Given the description of an element on the screen output the (x, y) to click on. 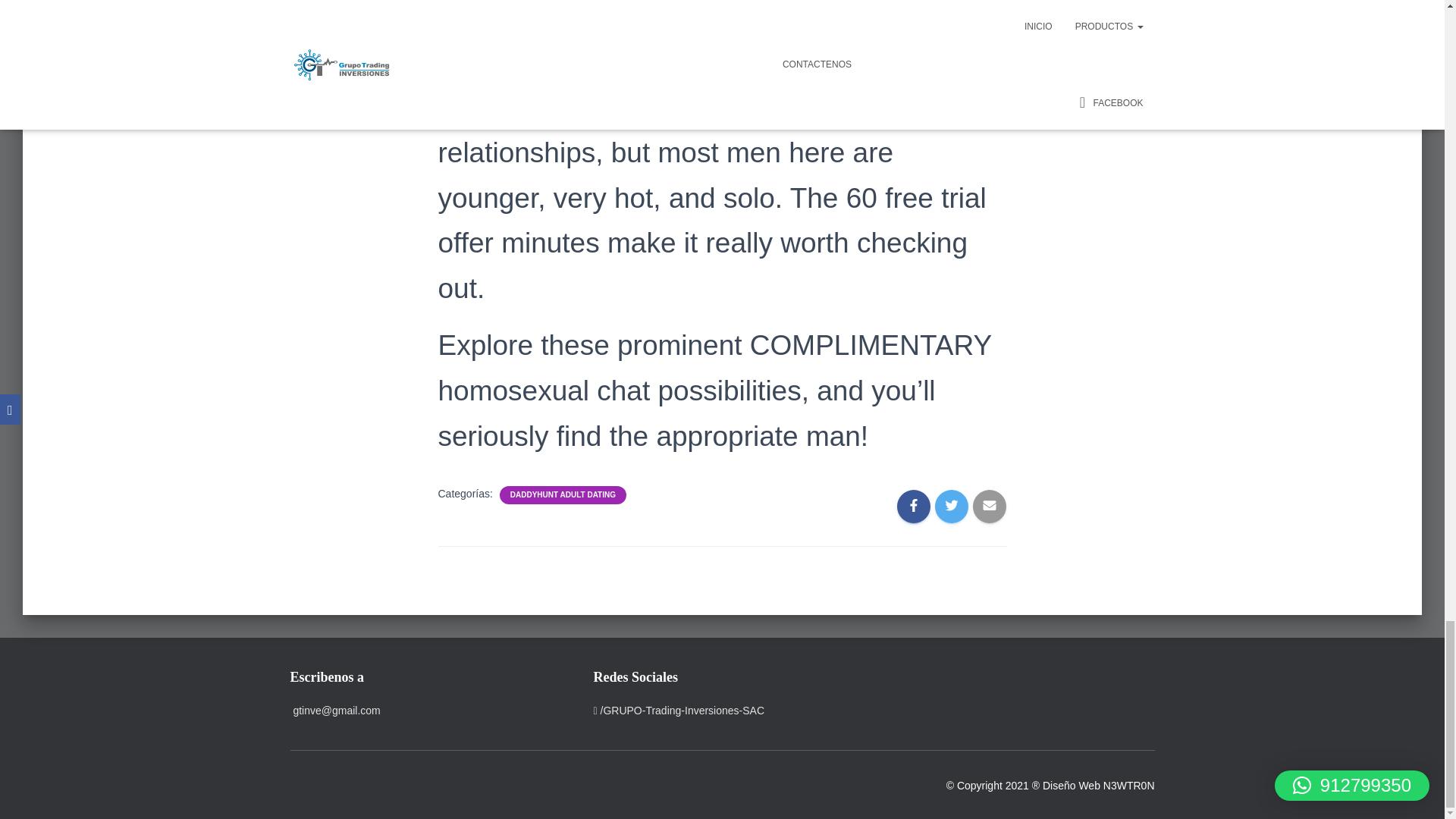
DADDYHUNT ADULT DATING (562, 494)
